Given the description of an element on the screen output the (x, y) to click on. 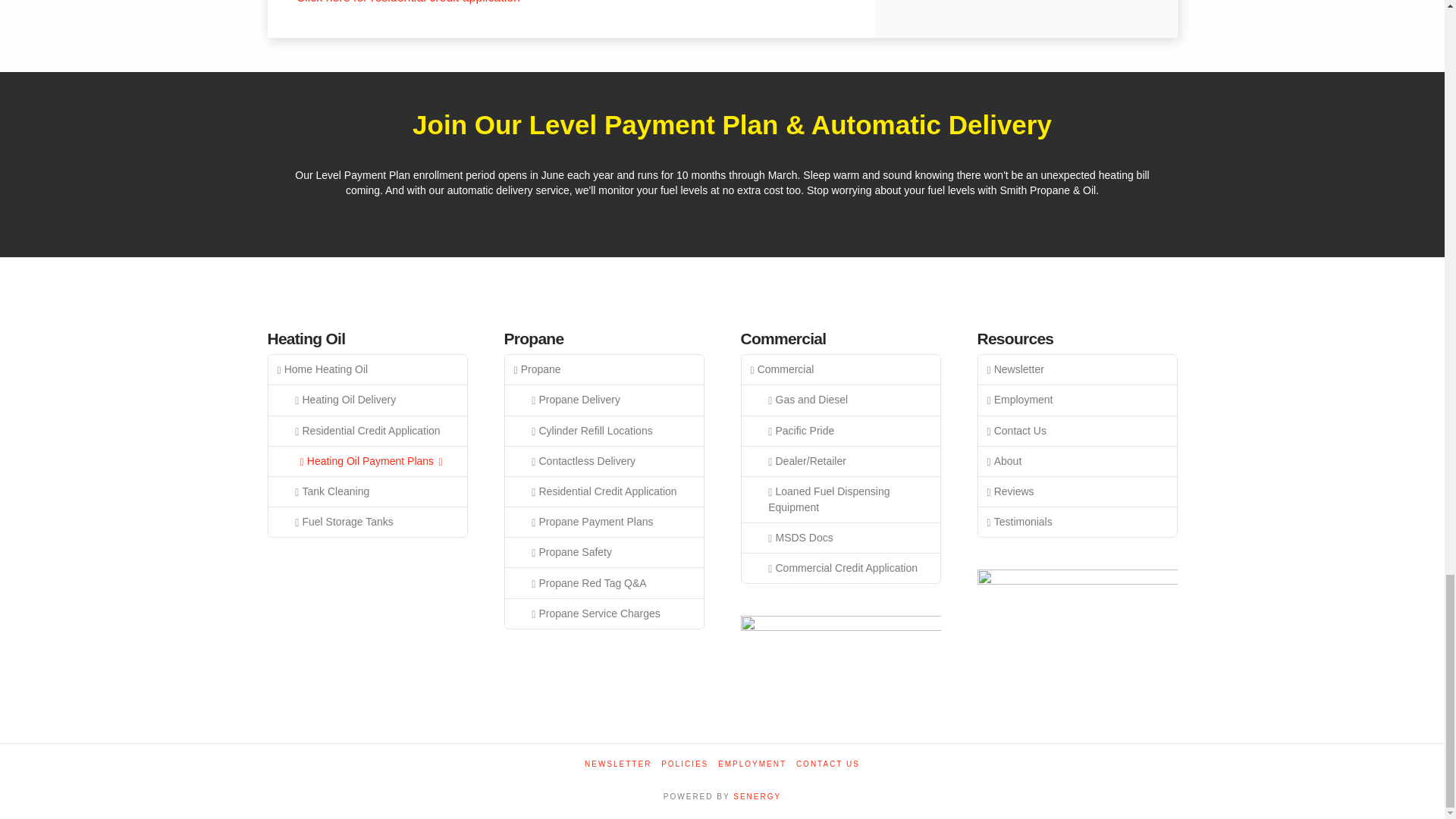
Home Heating Oil (367, 369)
Click here for residential credit application (408, 2)
